Given the description of an element on the screen output the (x, y) to click on. 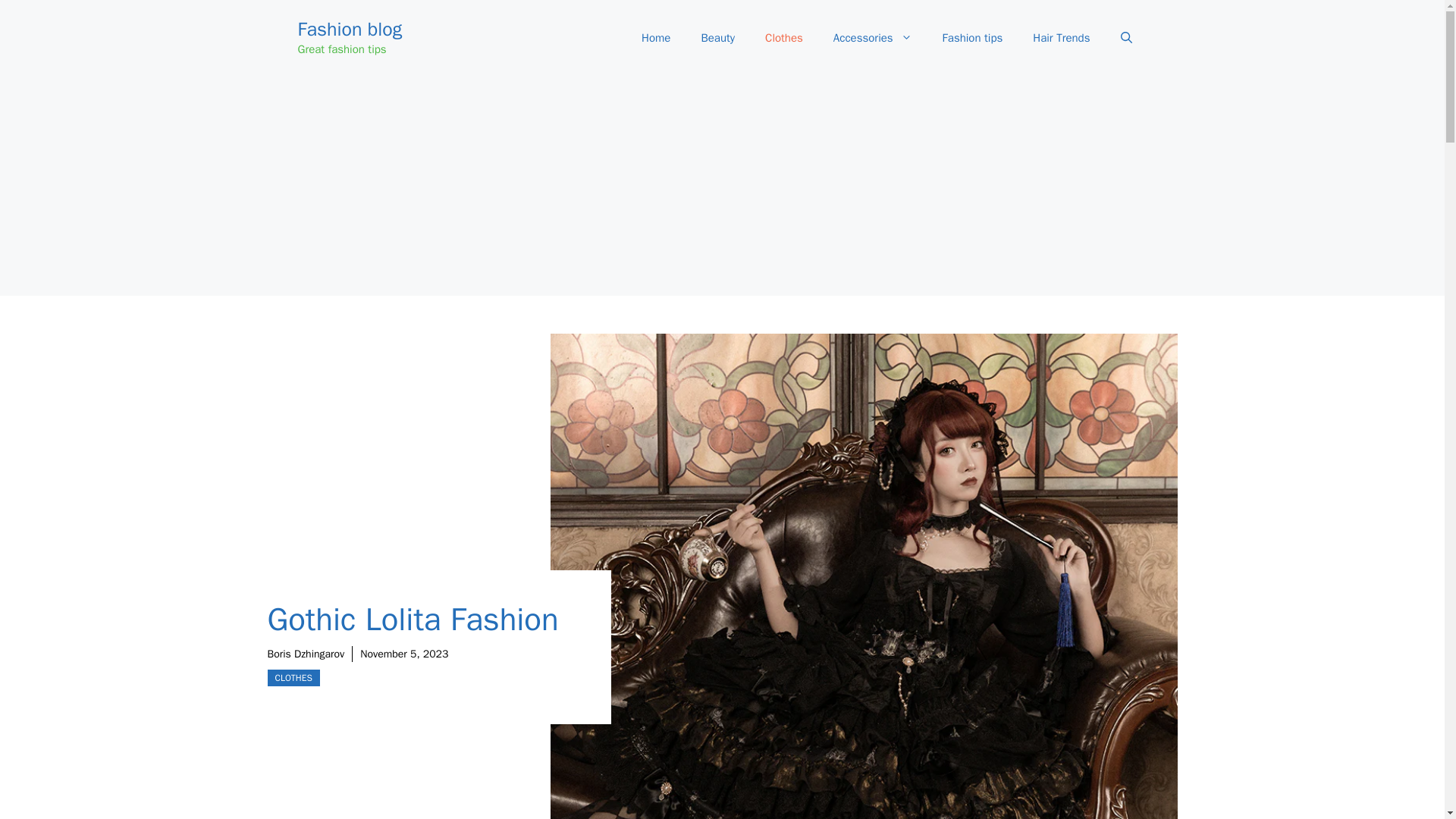
Accessories (872, 37)
Beauty (717, 37)
Clothes (783, 37)
Fashion blog (349, 28)
Hair Trends (1061, 37)
Boris Dzhingarov (304, 653)
Home (655, 37)
Fashion tips (972, 37)
CLOTHES (292, 677)
